Given the description of an element on the screen output the (x, y) to click on. 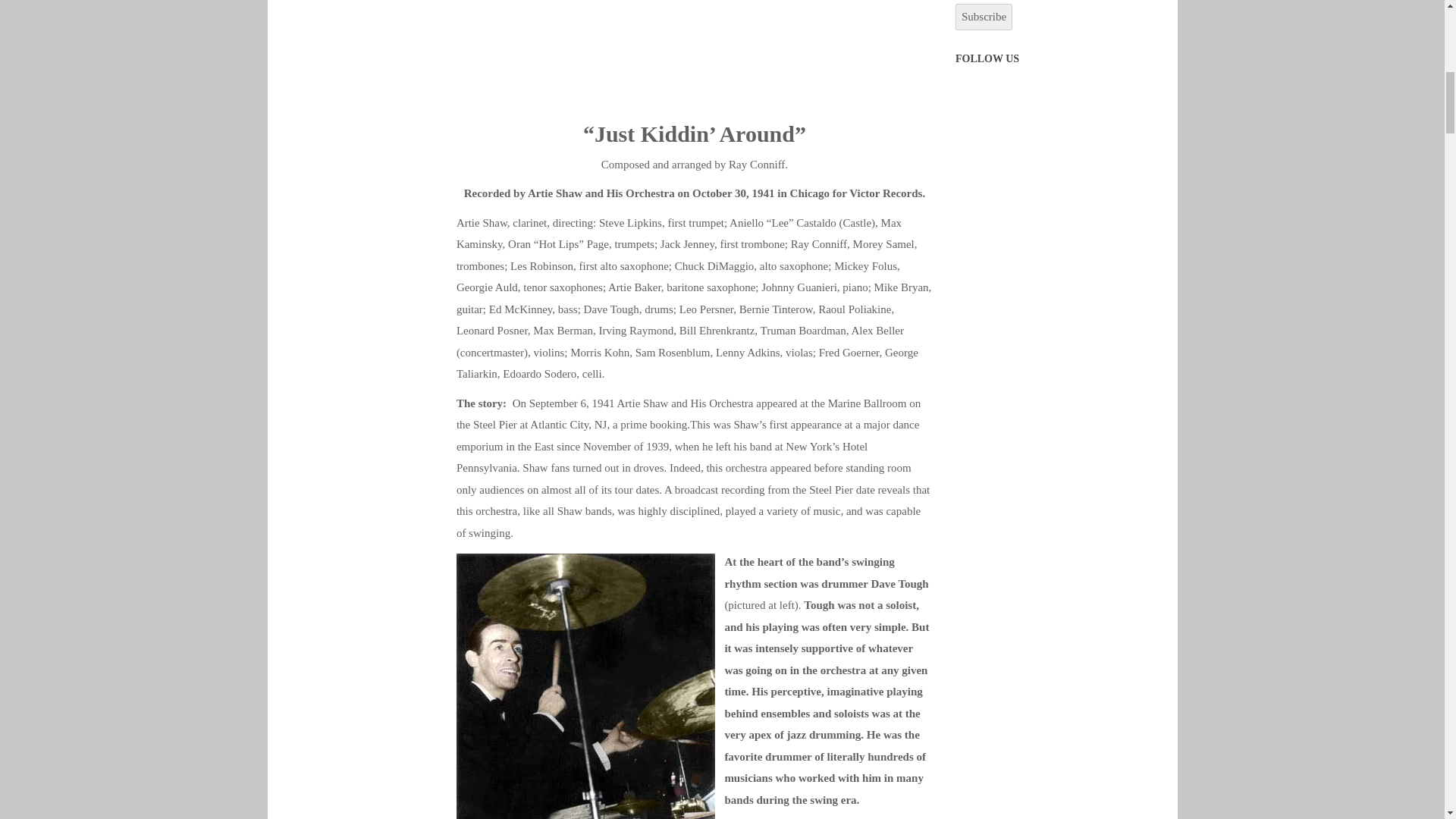
Subscribe (983, 17)
